Given the description of an element on the screen output the (x, y) to click on. 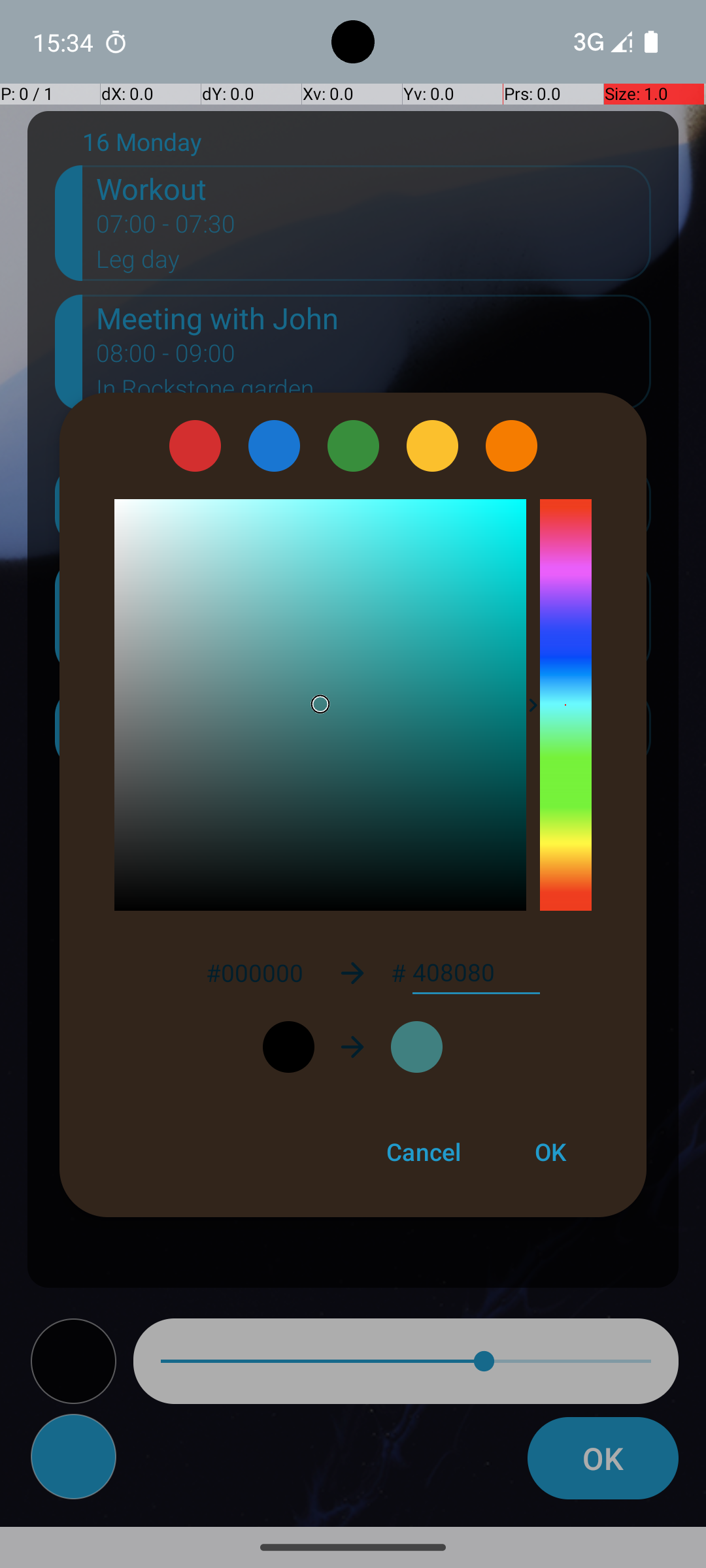
#000000 Element type: android.widget.TextView (254, 972)
408080 Element type: android.widget.EditText (475, 972)
